Given the description of an element on the screen output the (x, y) to click on. 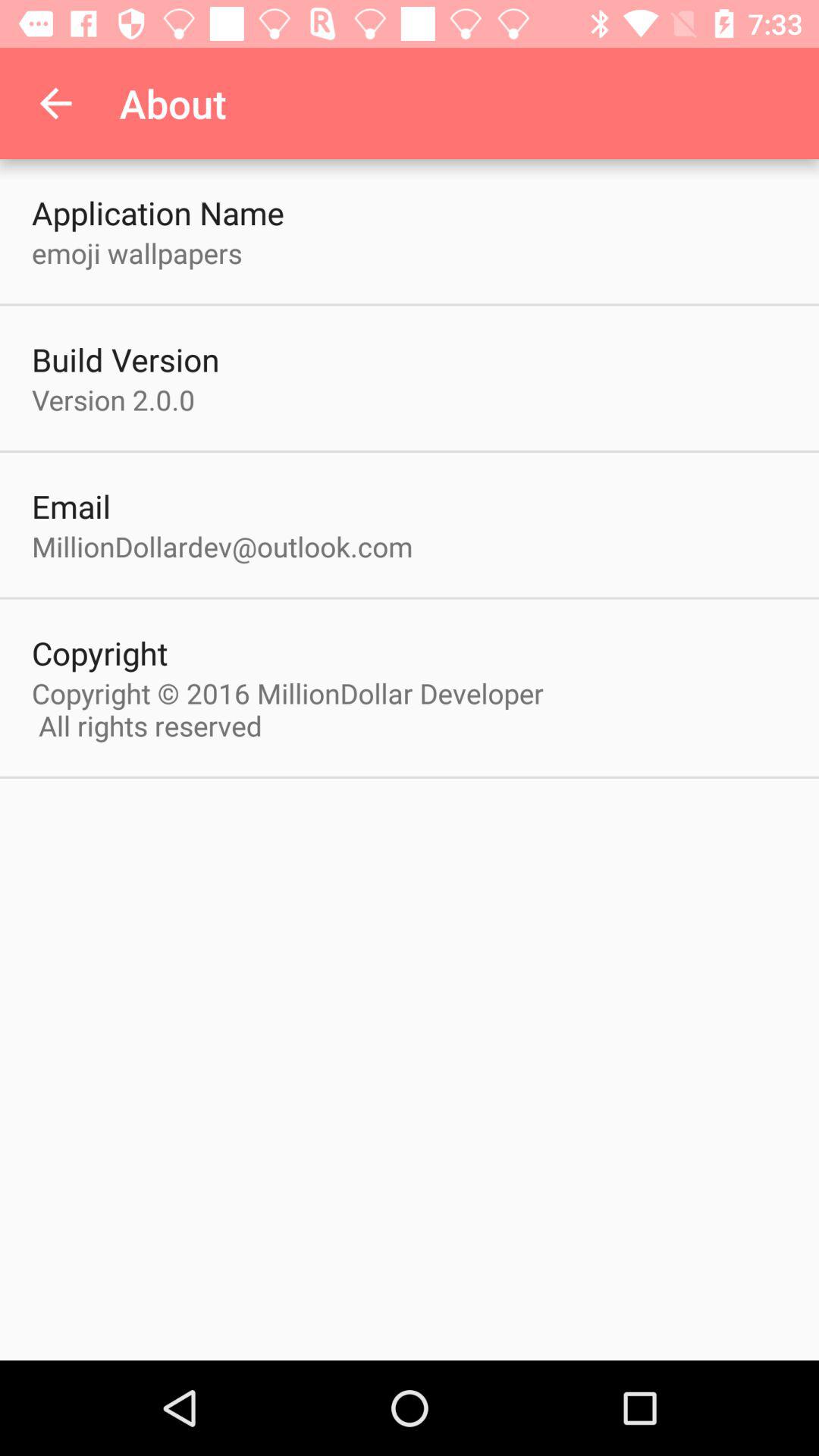
swipe until the emoji wallpapers (136, 252)
